Given the description of an element on the screen output the (x, y) to click on. 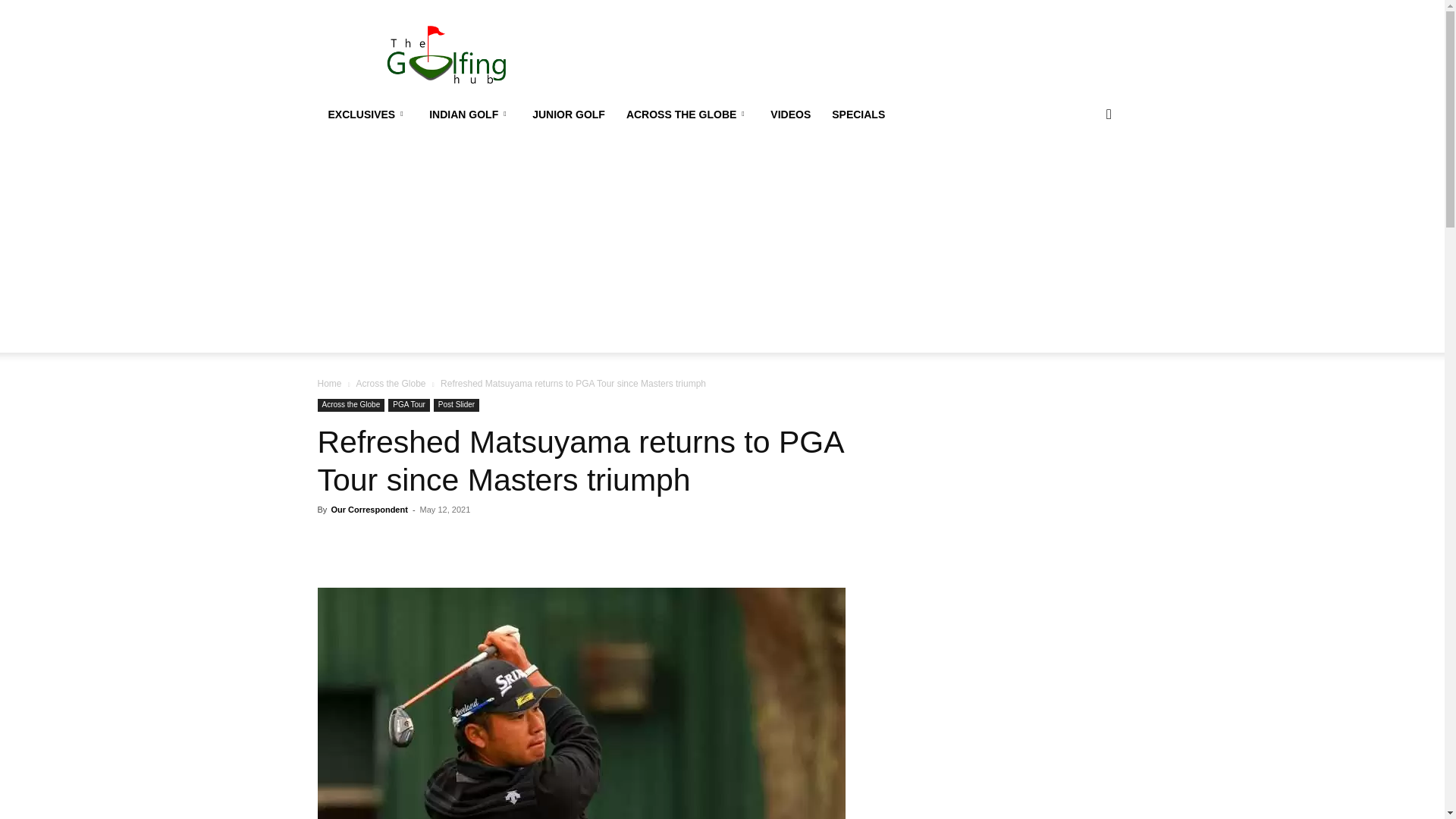
JUNIOR GOLF (568, 114)
EXCLUSIVES (368, 114)
ACROSS THE GLOBE (687, 114)
INDIAN GOLF (470, 114)
View all posts in Across the Globe (390, 383)
